Given the description of an element on the screen output the (x, y) to click on. 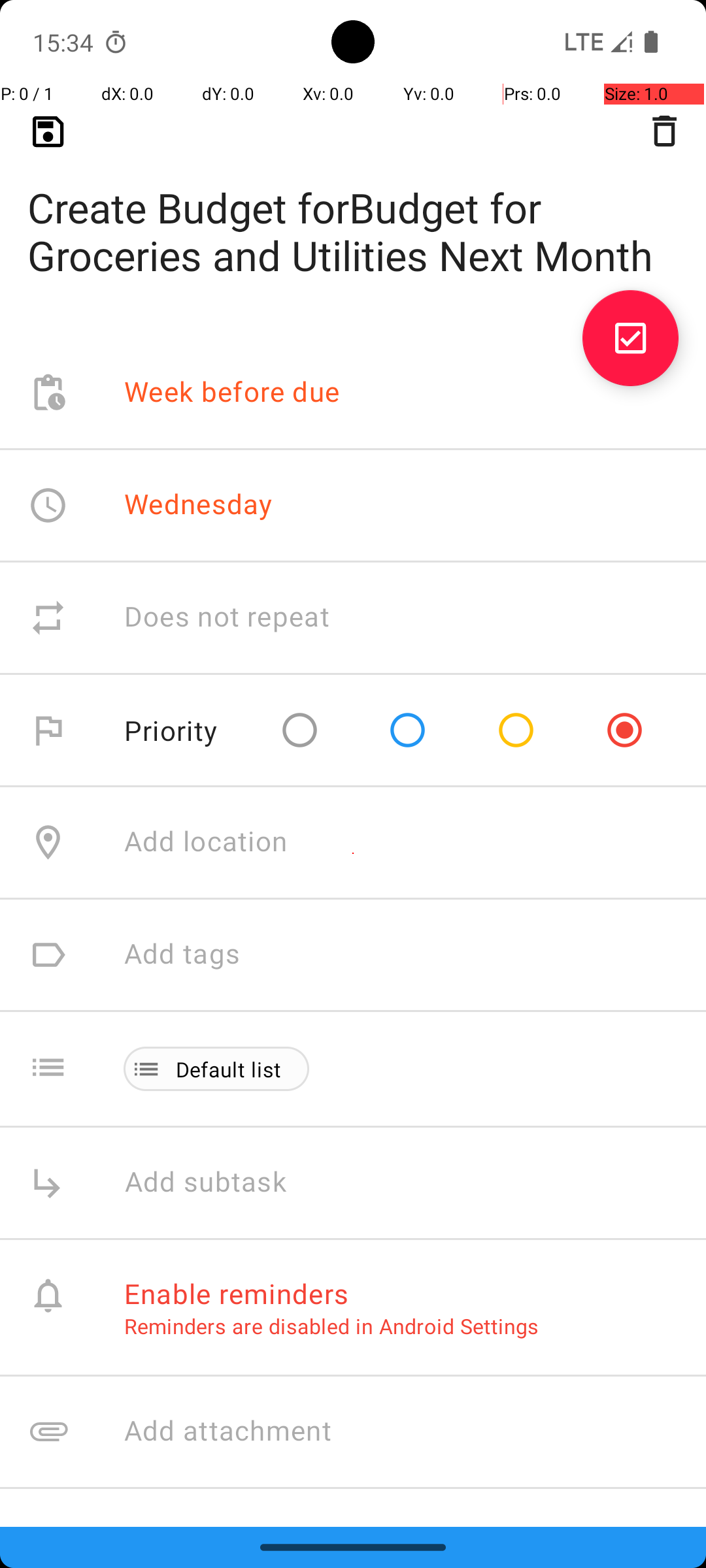
Create Budget forBudget for Groceries and Utilities Next Month Element type: android.widget.EditText (353, 210)
Track income and expenses. Set savings goals. Element type: android.widget.EditText (400, 1516)
Week before due Element type: android.widget.TextView (231, 392)
